Given the description of an element on the screen output the (x, y) to click on. 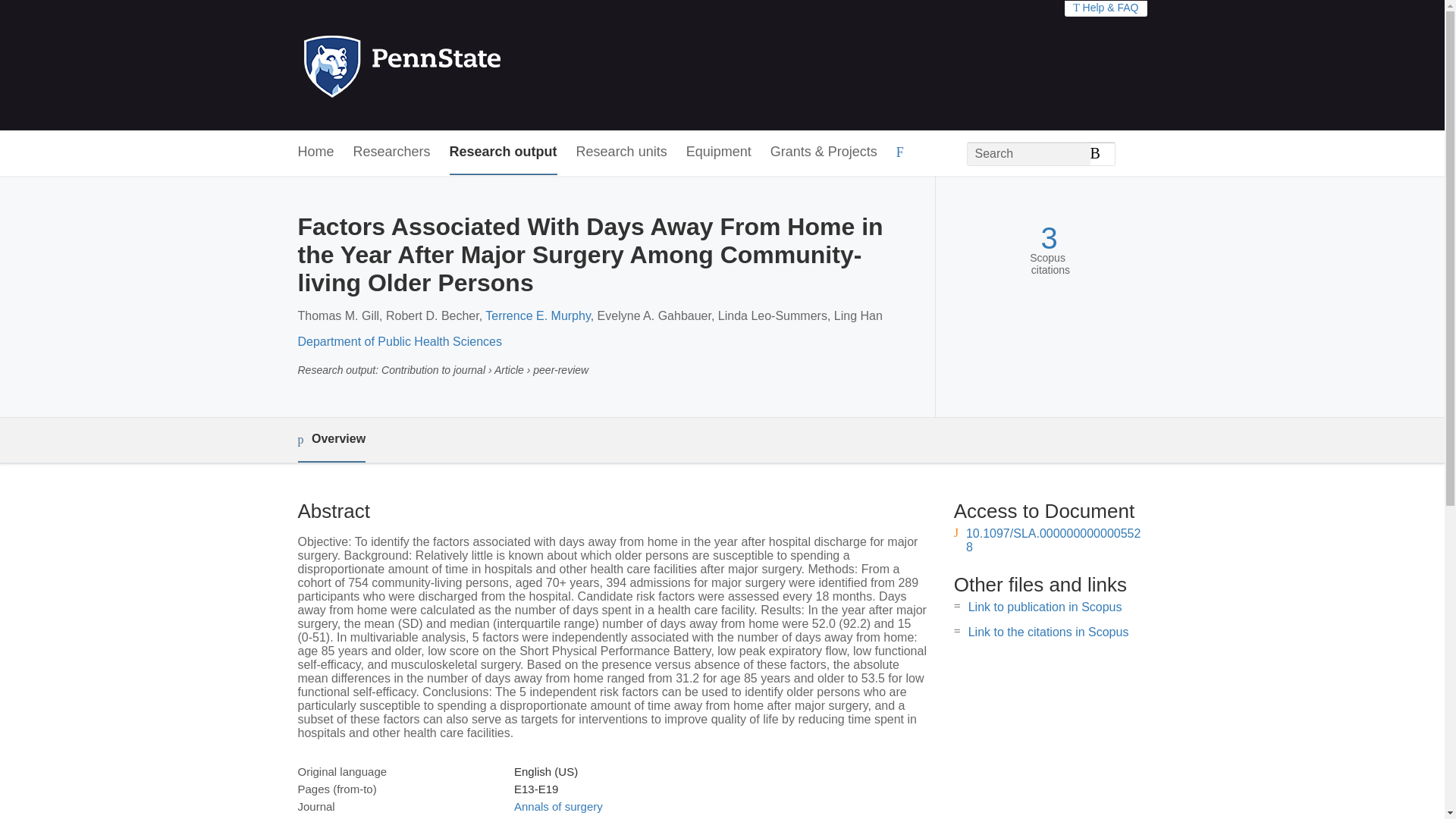
Overview (331, 439)
Department of Public Health Sciences (398, 341)
Annals of surgery (557, 806)
Research output (503, 152)
Link to publication in Scopus (1045, 606)
Link to the citations in Scopus (1048, 631)
Researchers (391, 152)
Research units (621, 152)
Penn State Home (467, 65)
